Given the description of an element on the screen output the (x, y) to click on. 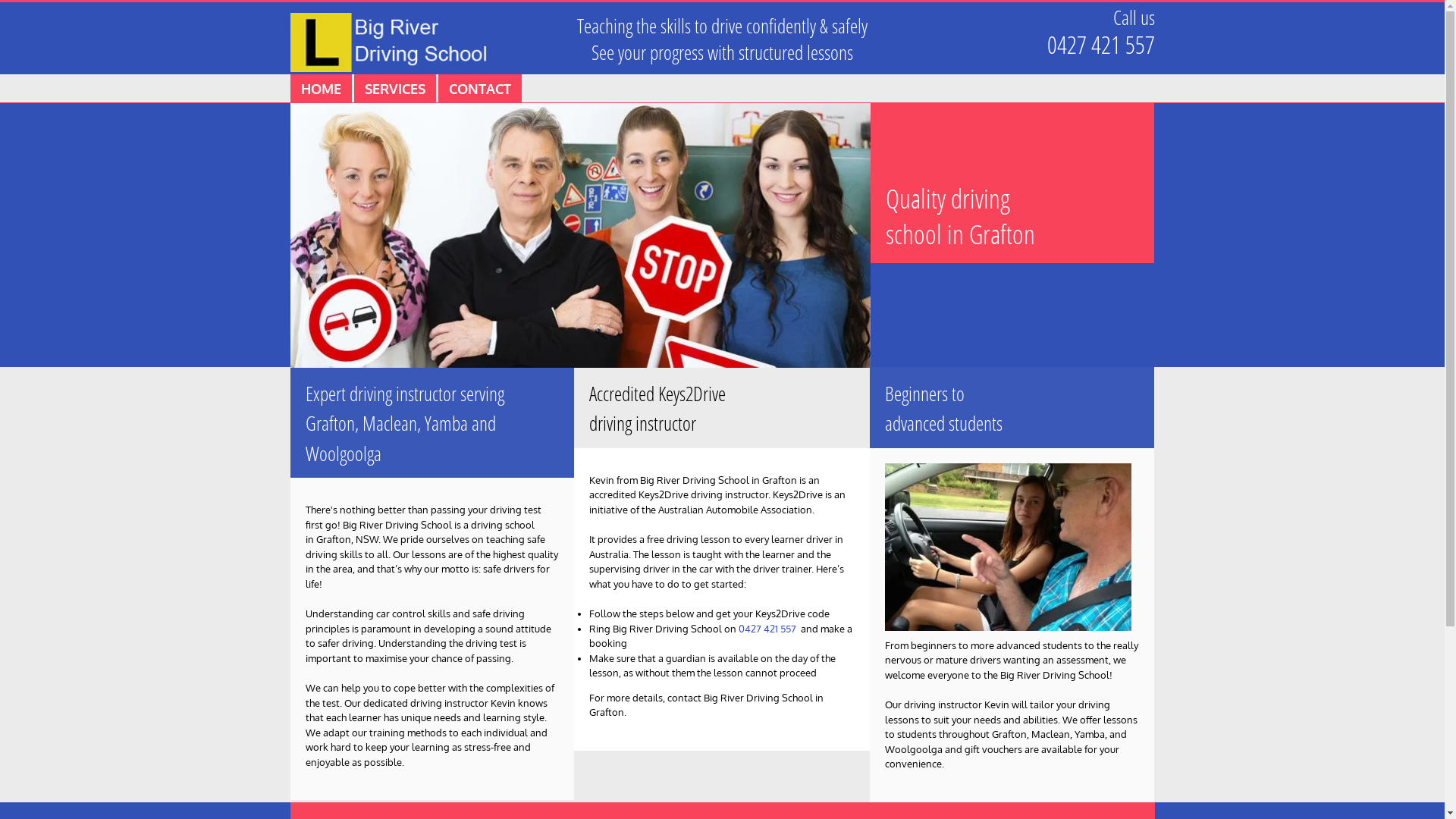
HOME Element type: text (320, 88)
0427 421 557 Element type: text (767, 628)
big river driving school women smiling Element type: hover (579, 235)
SERVICES Element type: text (394, 88)
0427 421 557 Element type: text (1100, 44)
CONTACT Element type: text (479, 88)
big river driving school Element type: hover (389, 43)
big river driving school instructor with student Element type: hover (1007, 546)
